Given the description of an element on the screen output the (x, y) to click on. 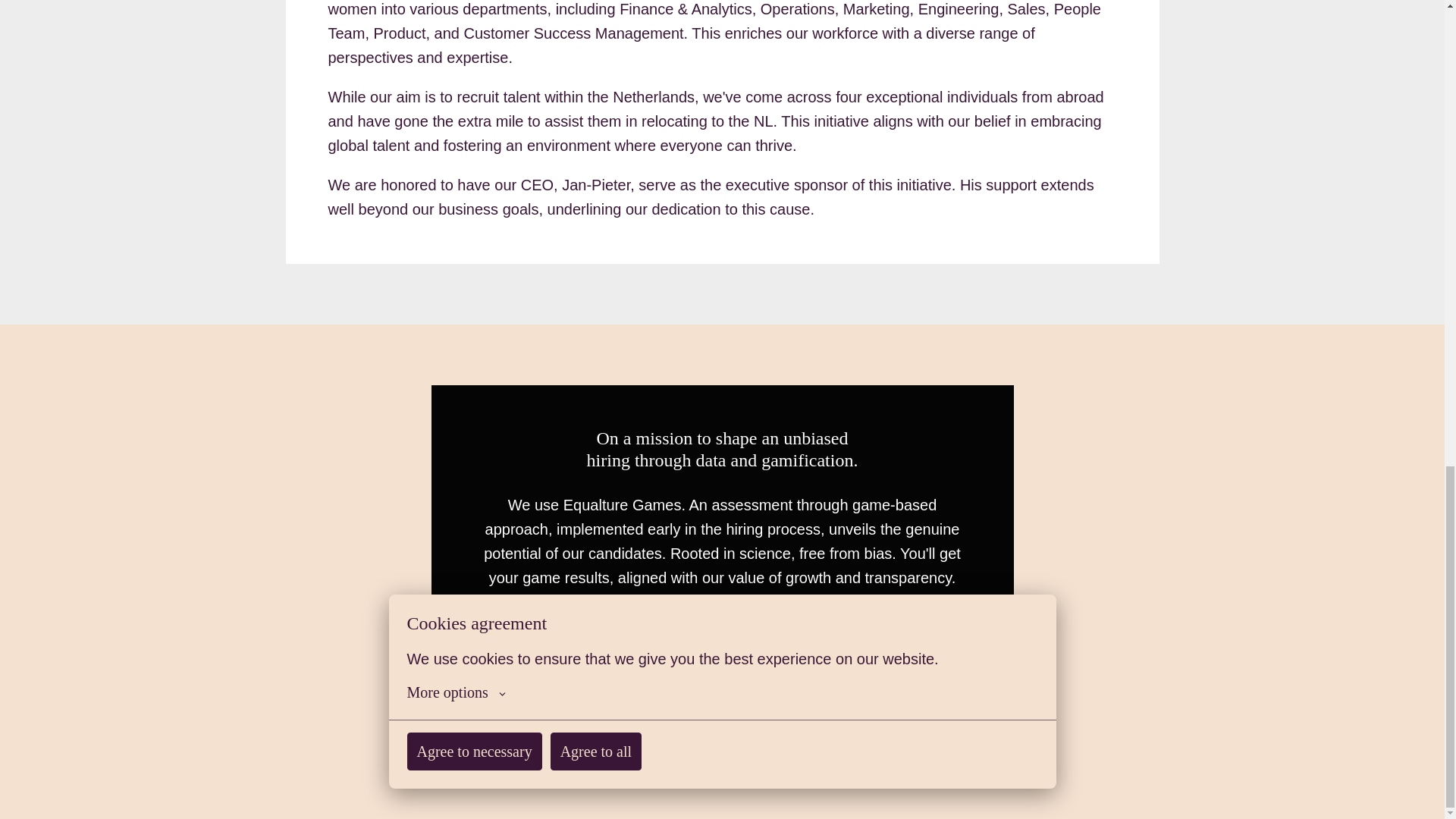
Ready to Apply? (722, 696)
